Given the description of an element on the screen output the (x, y) to click on. 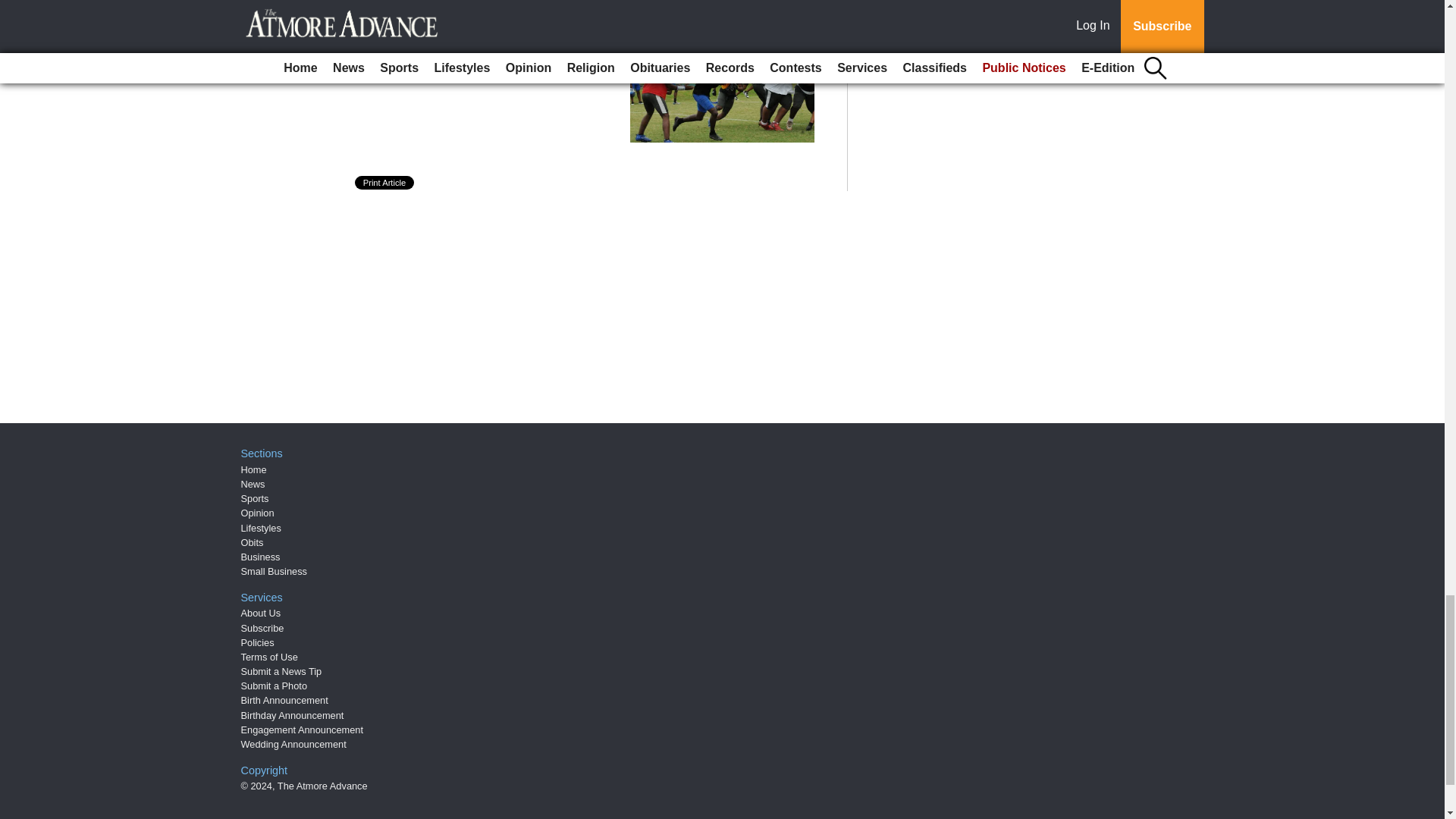
ECHS completes first week of spring practice (481, 59)
